Given the description of an element on the screen output the (x, y) to click on. 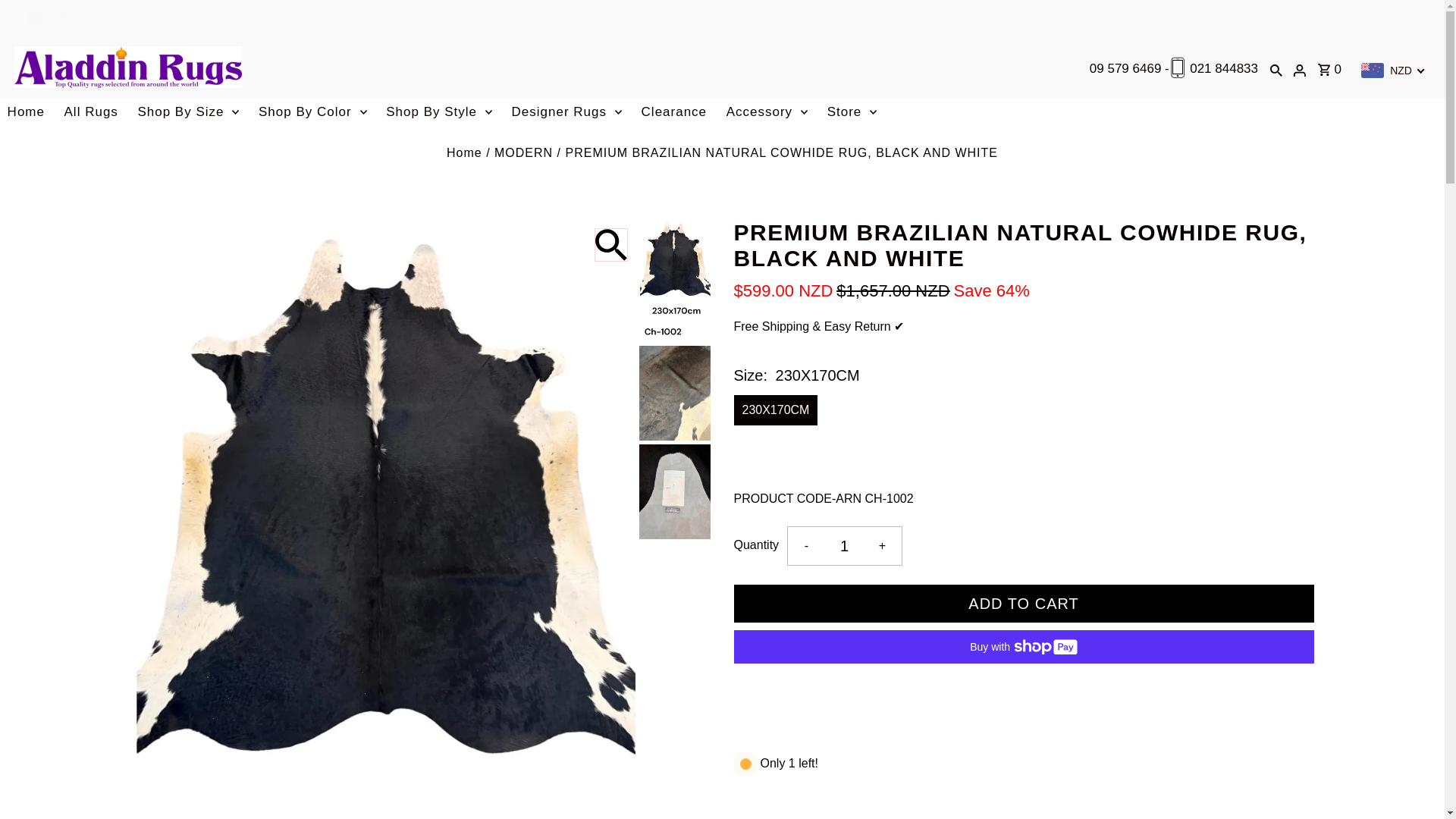
Shop By Size (187, 111)
Home (26, 111)
Home (463, 152)
All Rugs (90, 111)
Click to zoom (610, 244)
09 579 6469 - 021 844833 (1166, 68)
ADD TO CART (1023, 603)
1 (844, 545)
MODERN (524, 152)
